Given the description of an element on the screen output the (x, y) to click on. 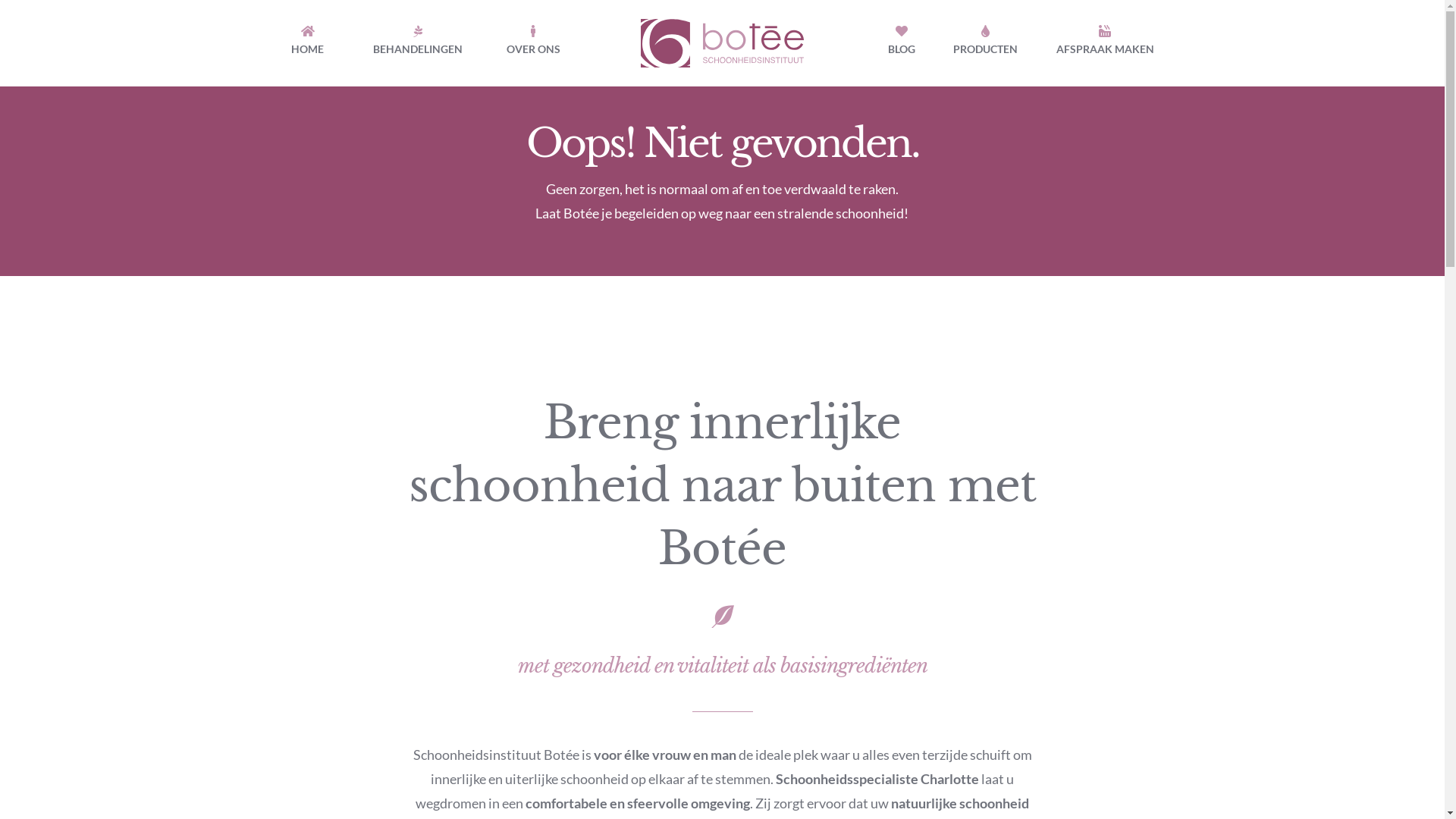
PRODUCTEN Element type: text (985, 43)
OVER ONS Element type: text (533, 43)
AFSPRAAK MAKEN Element type: text (1104, 43)
BLOG Element type: text (901, 43)
BEHANDELINGEN Element type: text (417, 43)
HOME Element type: text (307, 43)
